Given the description of an element on the screen output the (x, y) to click on. 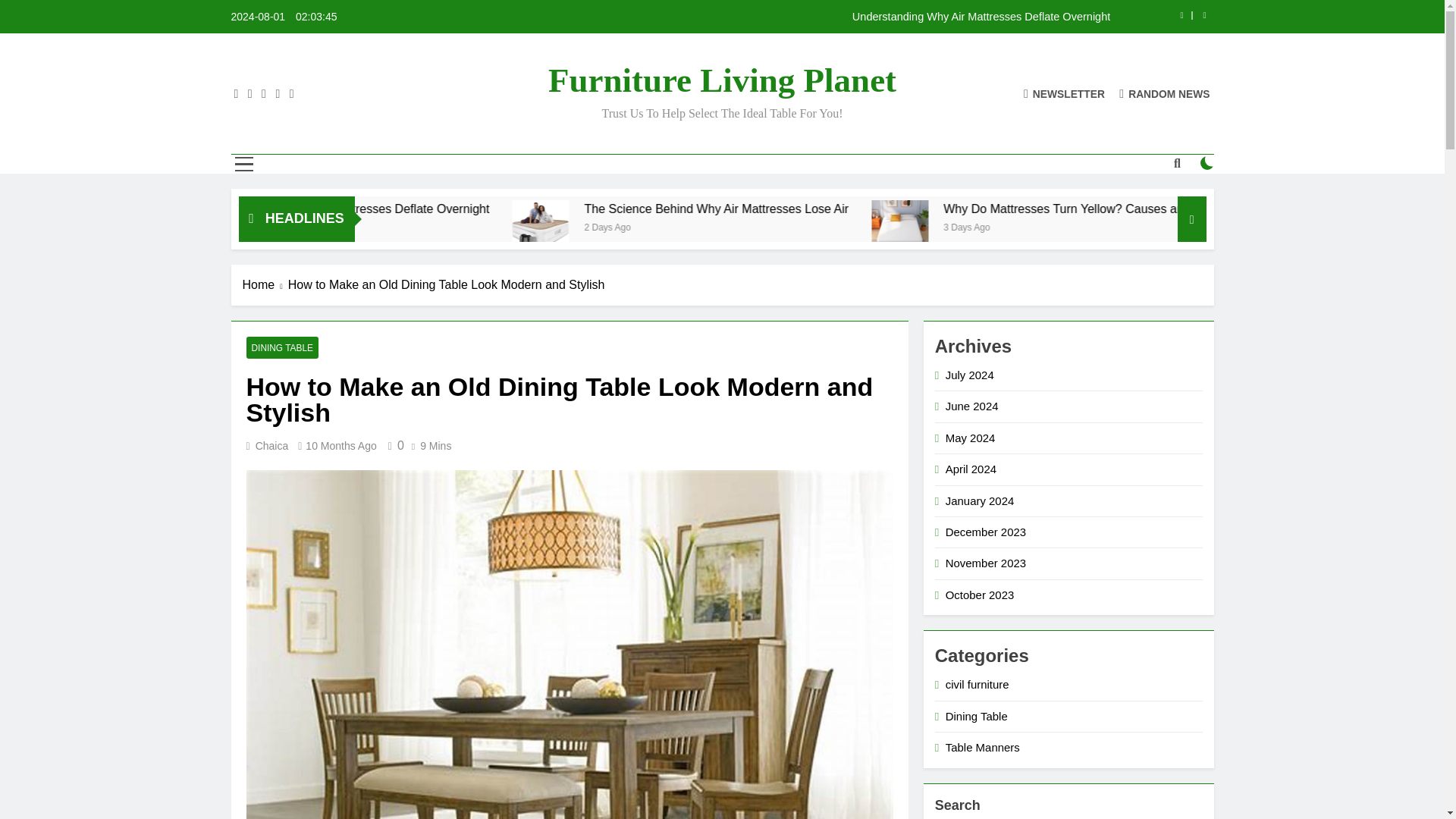
Understanding Why Air Mattresses Deflate Overnight (817, 16)
2 Days Ago (787, 226)
Why Do Mattresses Turn Yellow? Causes and Prevention Tips (1038, 228)
Understanding Why Air Mattresses Deflate Overnight (536, 208)
15 Hours Ago (418, 226)
The Science Behind Why Air Mattresses Lose Air (686, 228)
The Science Behind Why Air Mattresses Lose Air (898, 208)
NEWSLETTER (1064, 92)
The Science Behind Why Air Mattresses Lose Air (857, 208)
RANDOM NEWS (1164, 92)
The Science Behind Why Air Mattresses Lose Air (682, 228)
3 Days Ago (1140, 226)
on (1206, 162)
Understanding Why Air Mattresses Deflate Overnight (494, 208)
Understanding Why Air Mattresses Deflate Overnight (817, 16)
